Given the description of an element on the screen output the (x, y) to click on. 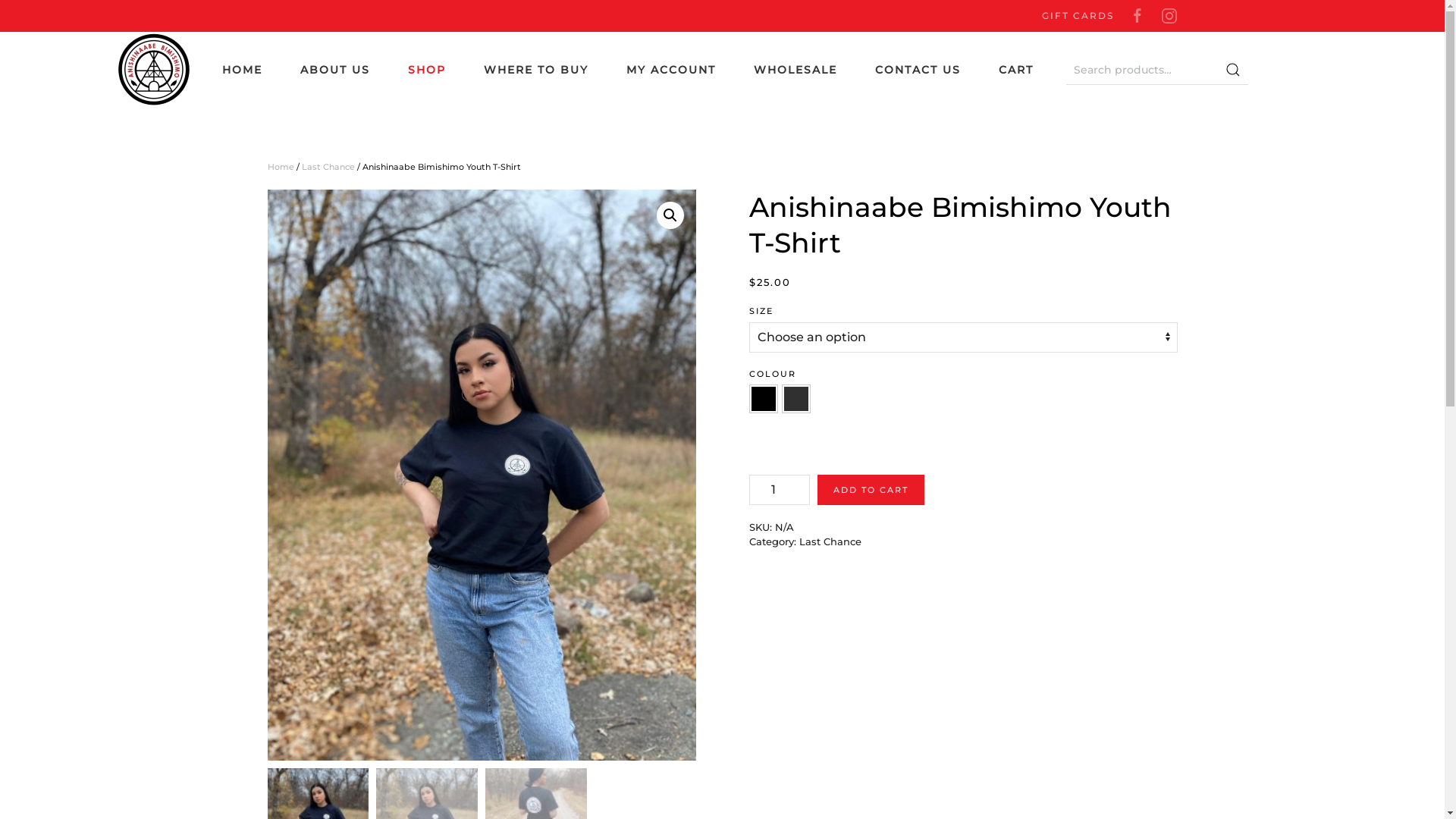
ABOUT US Element type: text (334, 69)
SHOP Element type: text (426, 69)
Charcoal Element type: text (796, 398)
HOME Element type: text (241, 69)
CART Element type: text (1016, 69)
MY ACCOUNT Element type: text (670, 69)
Search Element type: text (1232, 69)
WHOLESALE Element type: text (795, 69)
120509459_2701455120128667_7895834955048815972_n Element type: hover (480, 474)
Last Chance Element type: text (327, 166)
WHERE TO BUY Element type: text (536, 69)
ADD TO CART Element type: text (870, 489)
Black Element type: text (762, 398)
Home Element type: text (279, 166)
GIFT CARDS Element type: text (1077, 15)
Last Chance Element type: text (830, 541)
CONTACT US Element type: text (917, 69)
